Given the description of an element on the screen output the (x, y) to click on. 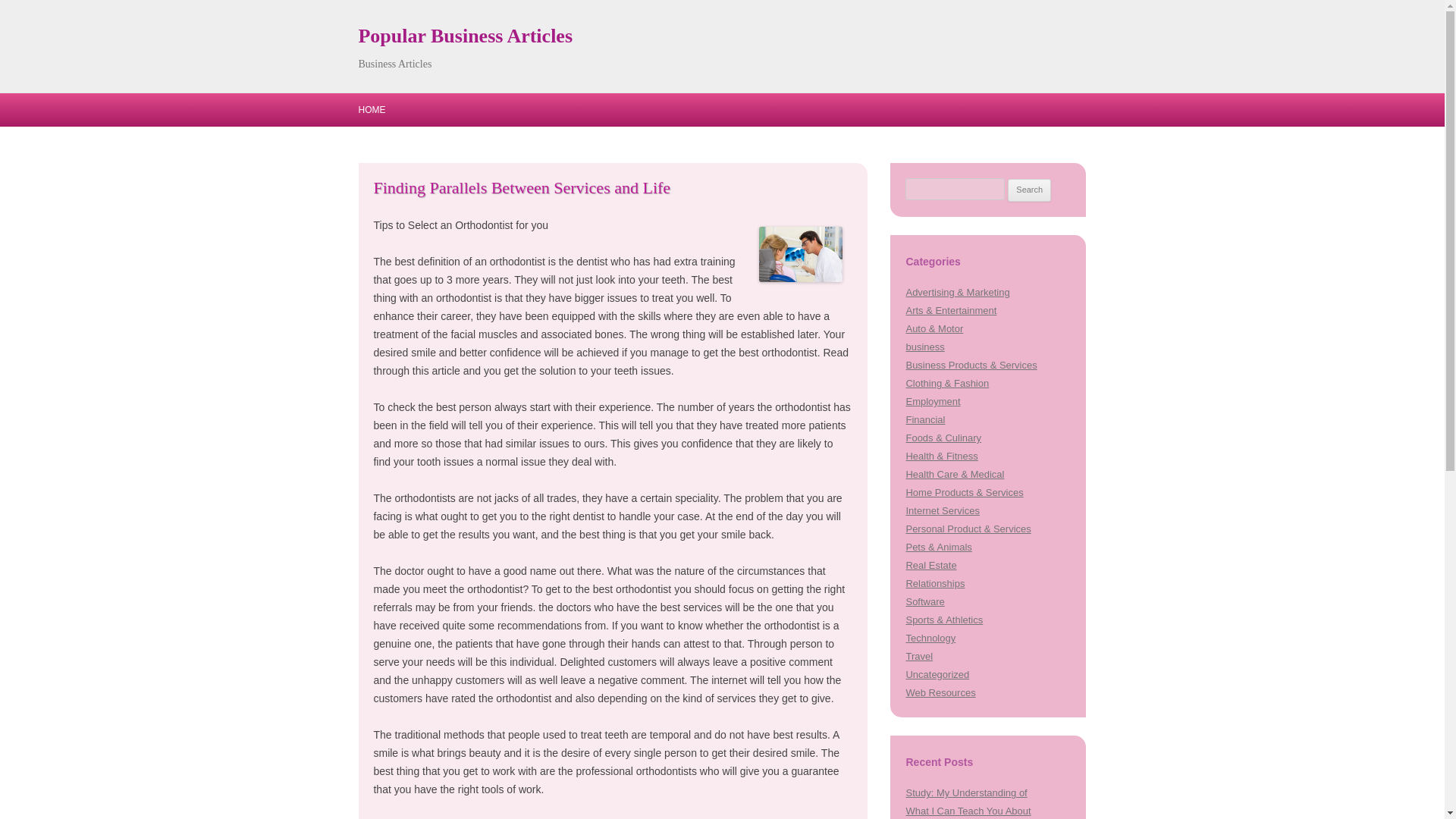
Popular Business Articles (465, 36)
Financial (924, 419)
Travel (919, 655)
What I Can Teach You About (967, 810)
Search (1029, 190)
Uncategorized (937, 674)
Software (924, 601)
Technology (930, 637)
Relationships (934, 583)
Internet Services (941, 510)
Popular Business Articles (465, 36)
Real Estate (930, 564)
Web Resources (940, 692)
